Given the description of an element on the screen output the (x, y) to click on. 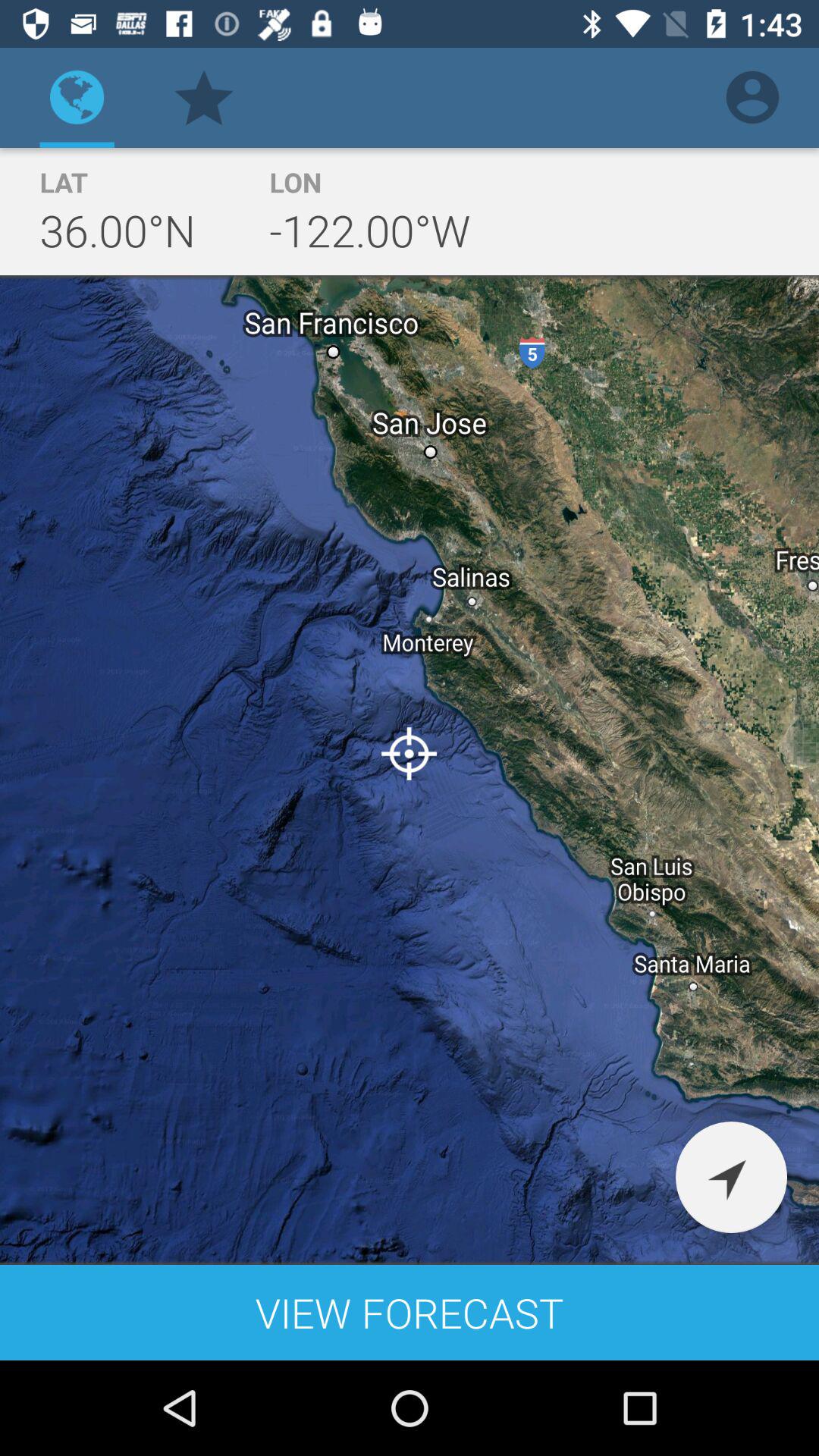
directions from me (731, 1177)
